Given the description of an element on the screen output the (x, y) to click on. 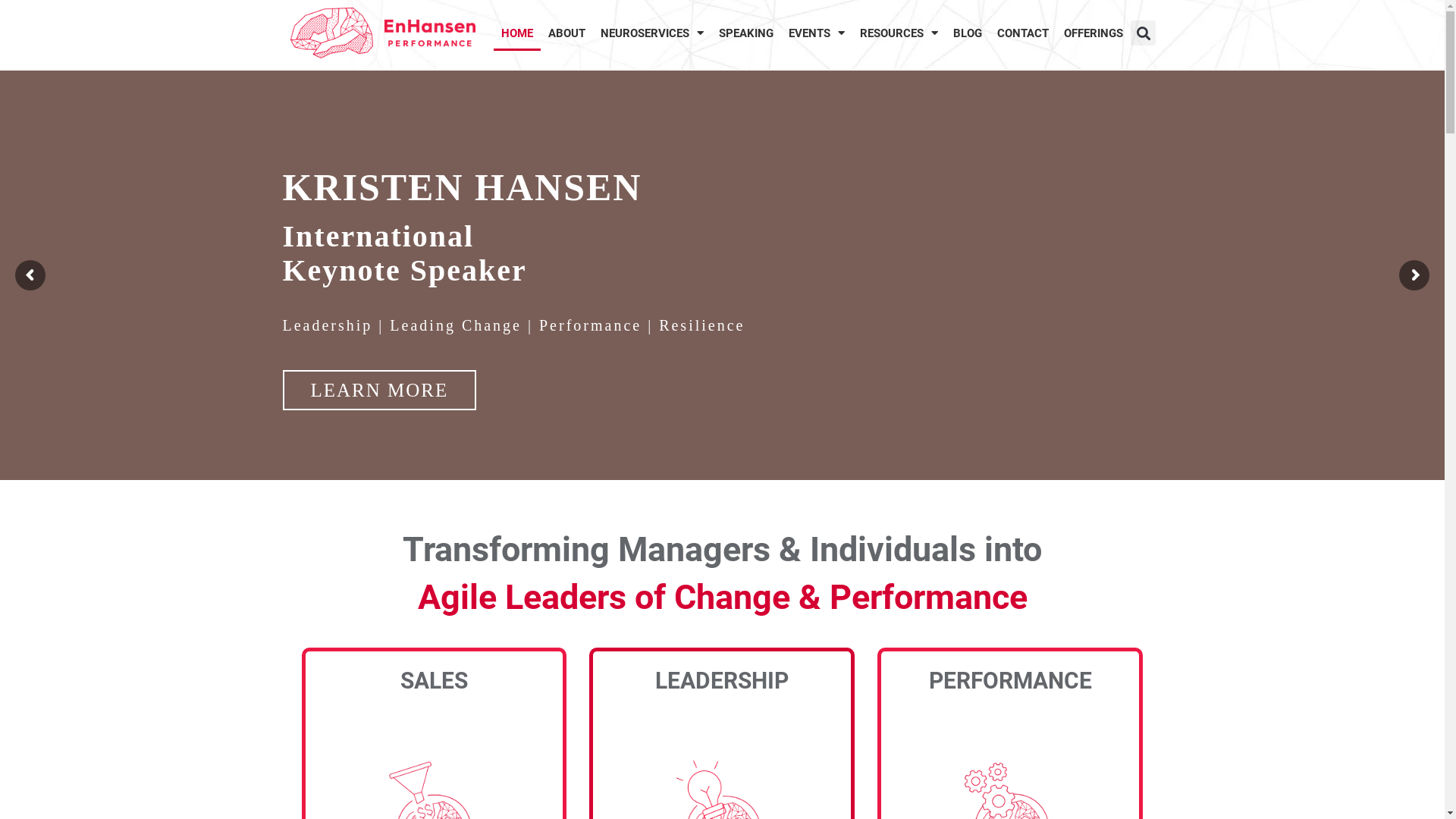
HOME Element type: text (516, 32)
RESOURCES Element type: text (898, 32)
OFFERINGS Element type: text (1093, 32)
NEUROSERVICES Element type: text (652, 32)
LEARN MORE Element type: text (379, 390)
CONTACT Element type: text (1022, 32)
BLOG Element type: text (967, 32)
SPEAKING Element type: text (746, 32)
ABOUT Element type: text (566, 32)
EVENTS Element type: text (816, 32)
